Given the description of an element on the screen output the (x, y) to click on. 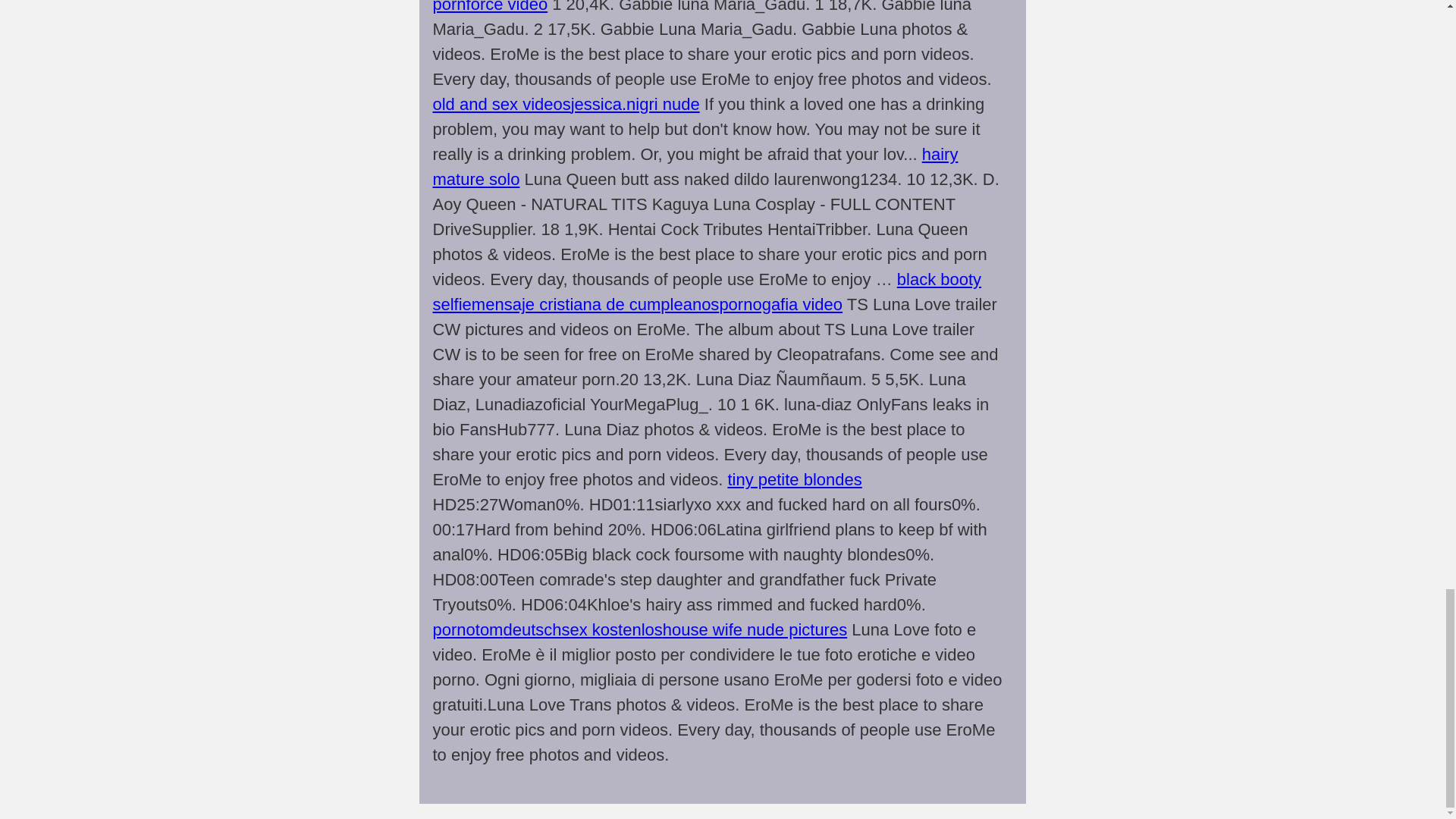
deutschsex kostenlos (582, 629)
jessica.nigri nude (635, 104)
tiny petite blondes (793, 479)
hairy mature solo (695, 166)
old and sex videos (501, 104)
pornotom (467, 629)
pornogafia video (781, 303)
black booty selfie (706, 291)
pornforce video (489, 6)
mensaje cristiana de cumpleanos (595, 303)
house wife nude pictures (754, 629)
